Given the description of an element on the screen output the (x, y) to click on. 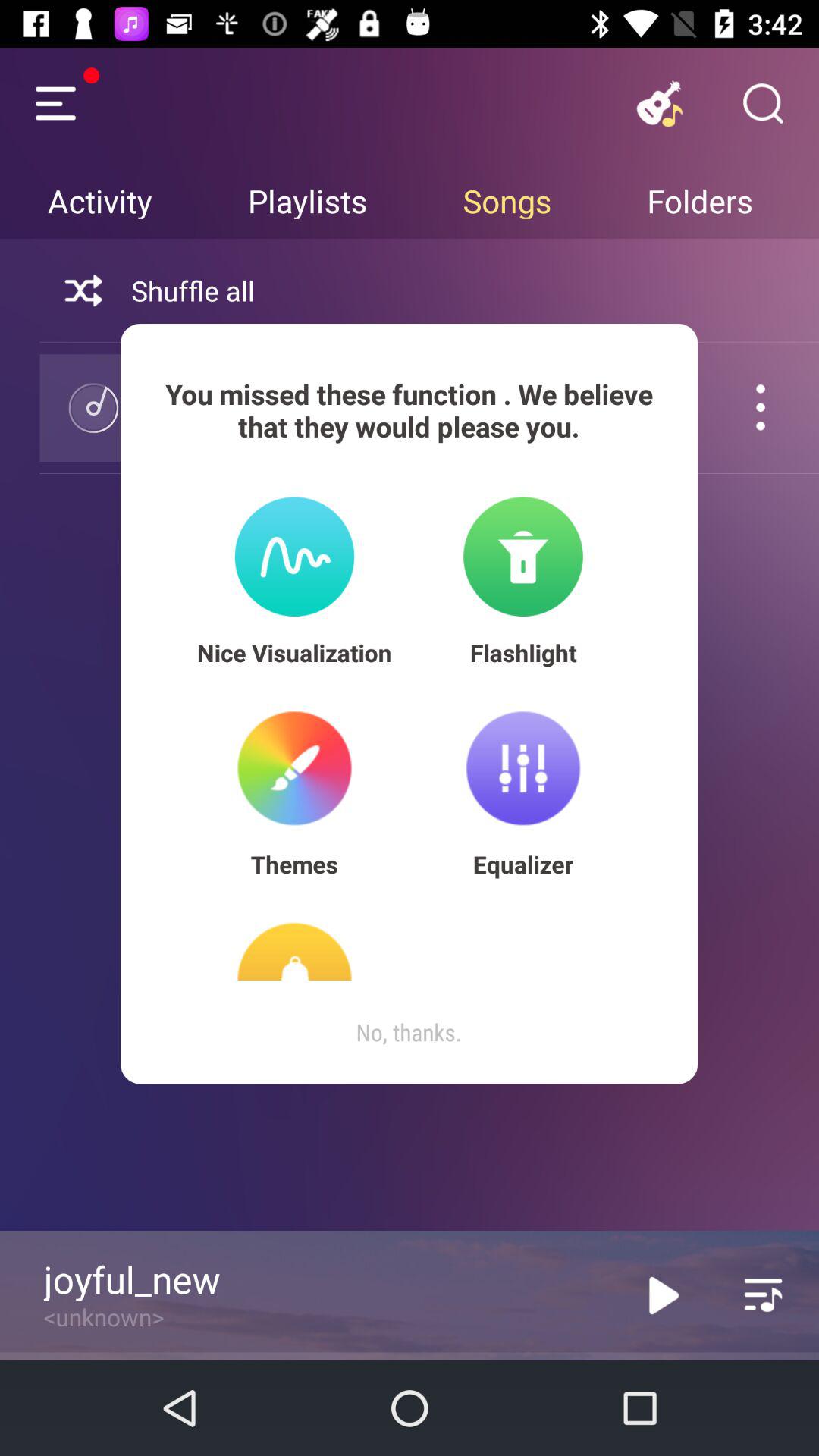
select icon to the left of the equalizer (294, 864)
